Given the description of an element on the screen output the (x, y) to click on. 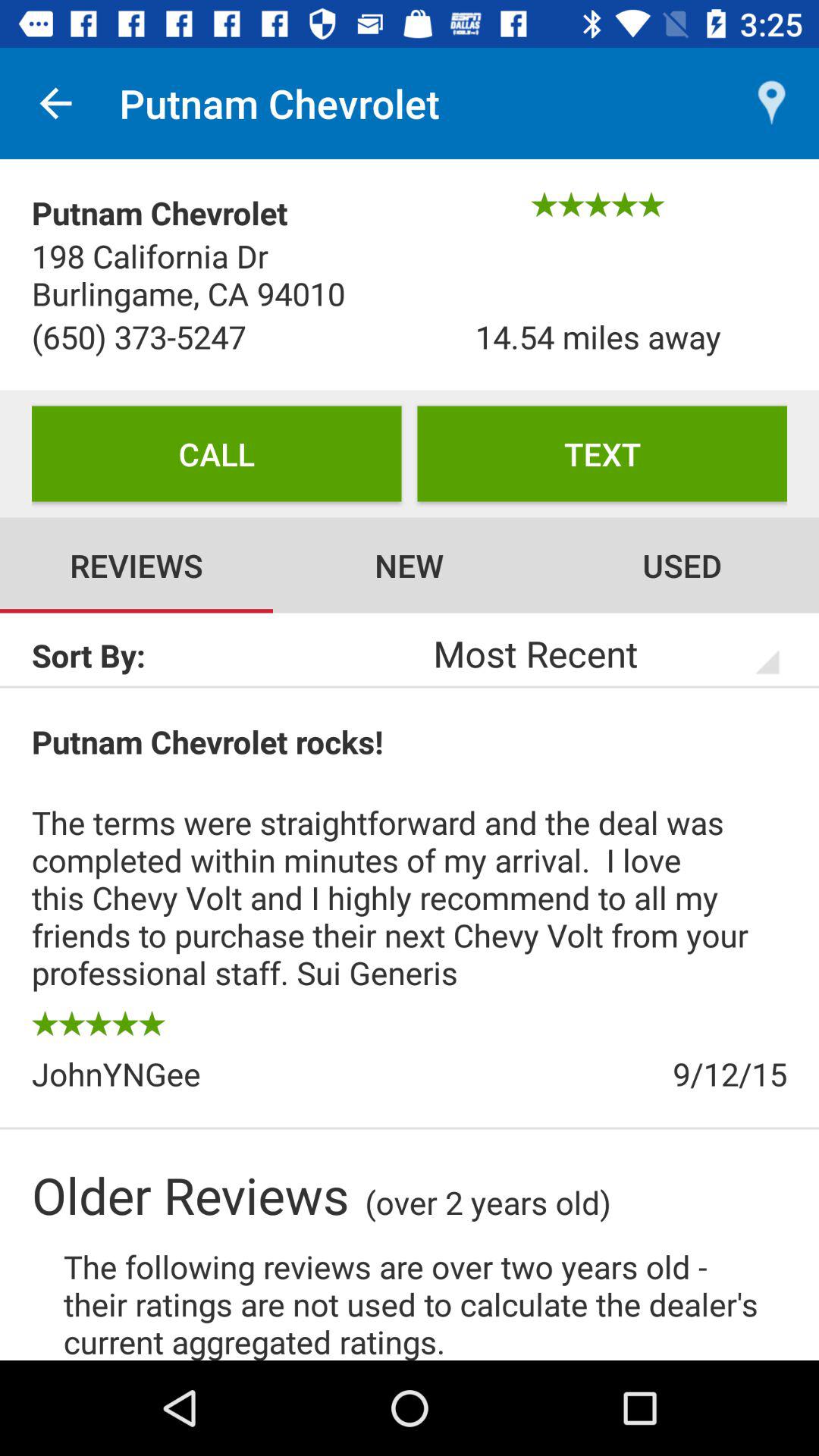
tap the item to the left of the putnam chevrolet item (55, 103)
